Given the description of an element on the screen output the (x, y) to click on. 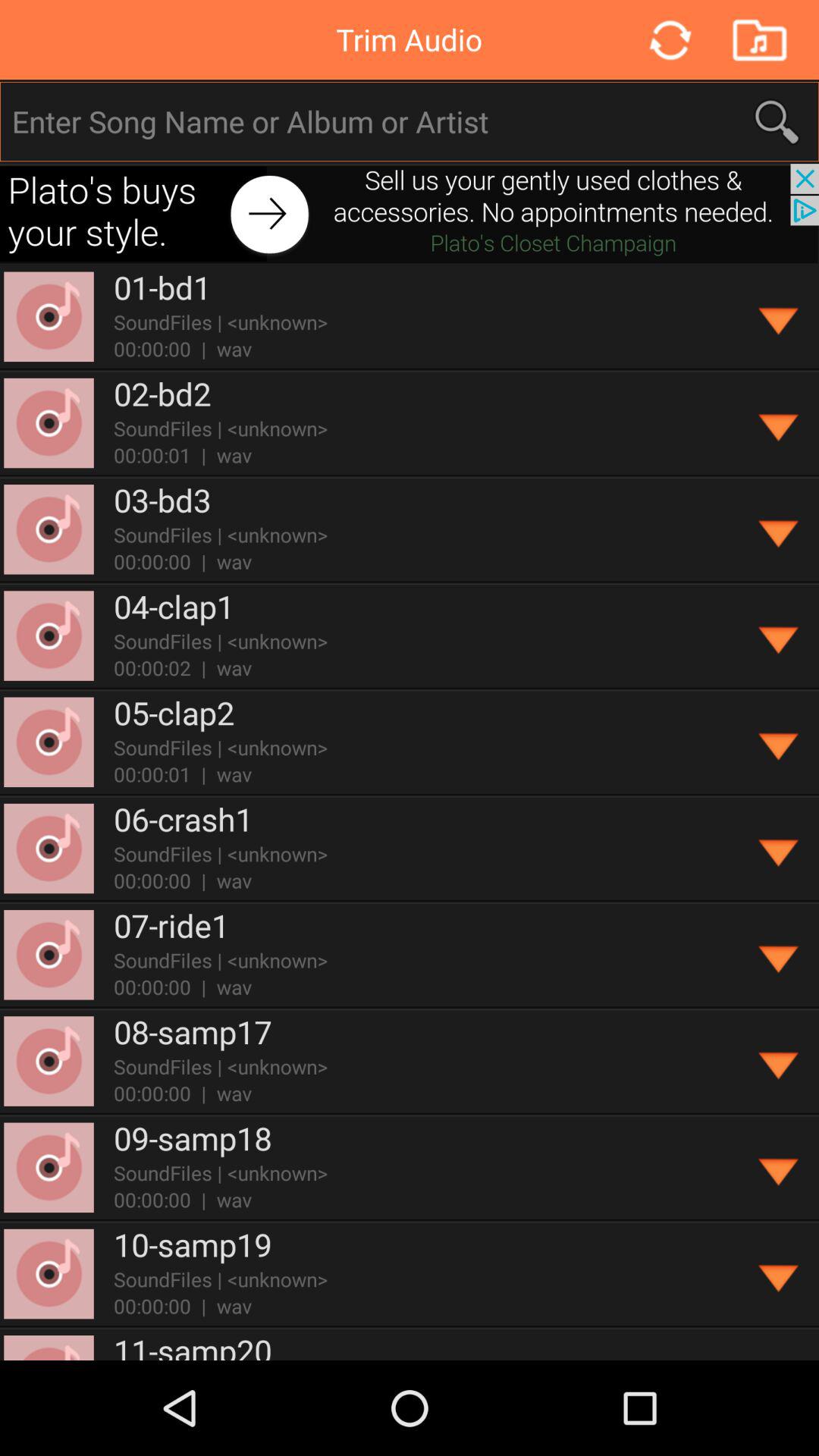
refresh (669, 39)
